Given the description of an element on the screen output the (x, y) to click on. 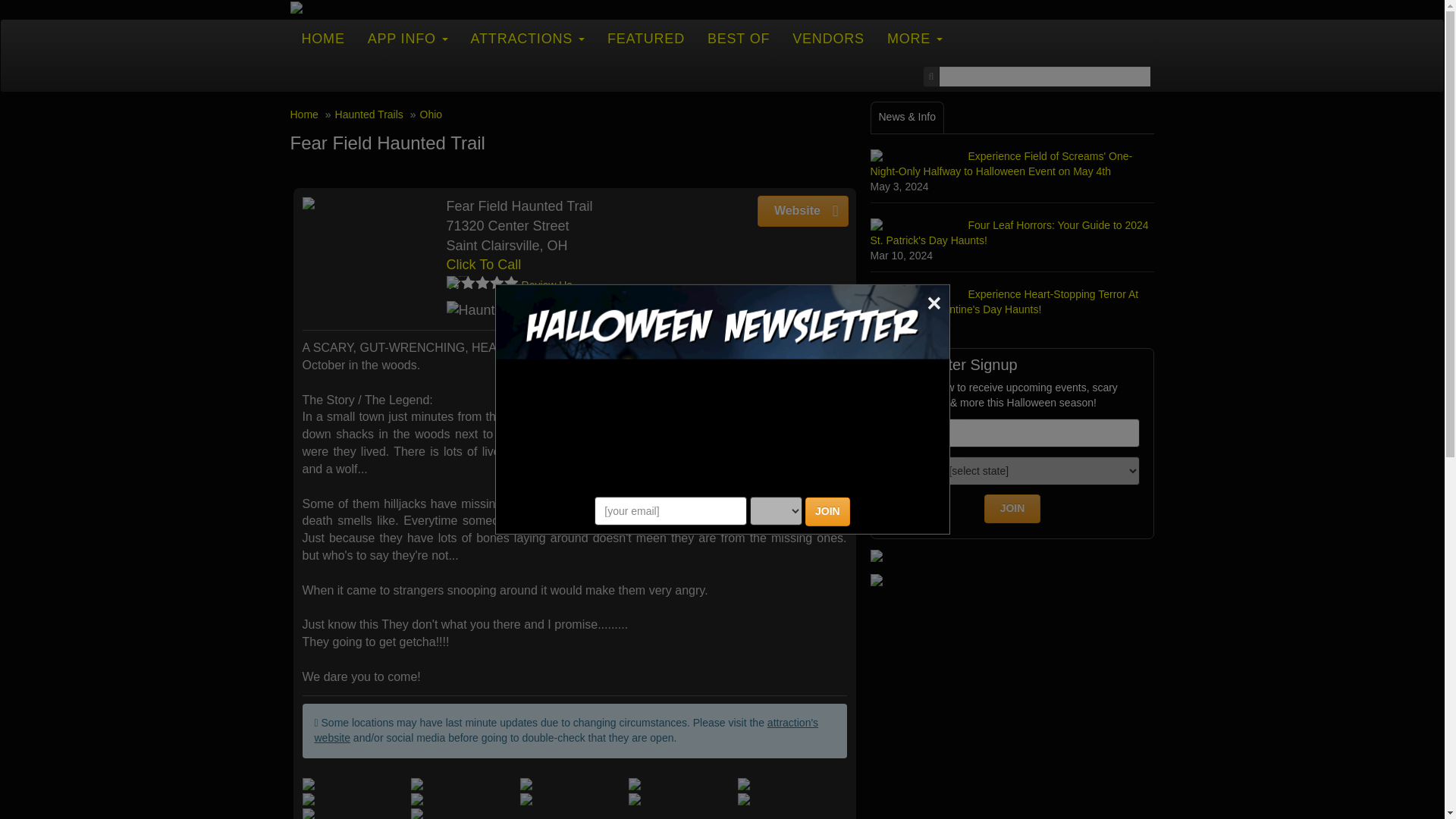
APP INFO (408, 38)
JOIN (827, 511)
ATTRACTIONS (527, 38)
VENDORS (828, 38)
BEST OF (737, 38)
FEATURED (645, 38)
Haunted Trails (495, 311)
MORE (914, 38)
HOME (322, 38)
